Given the description of an element on the screen output the (x, y) to click on. 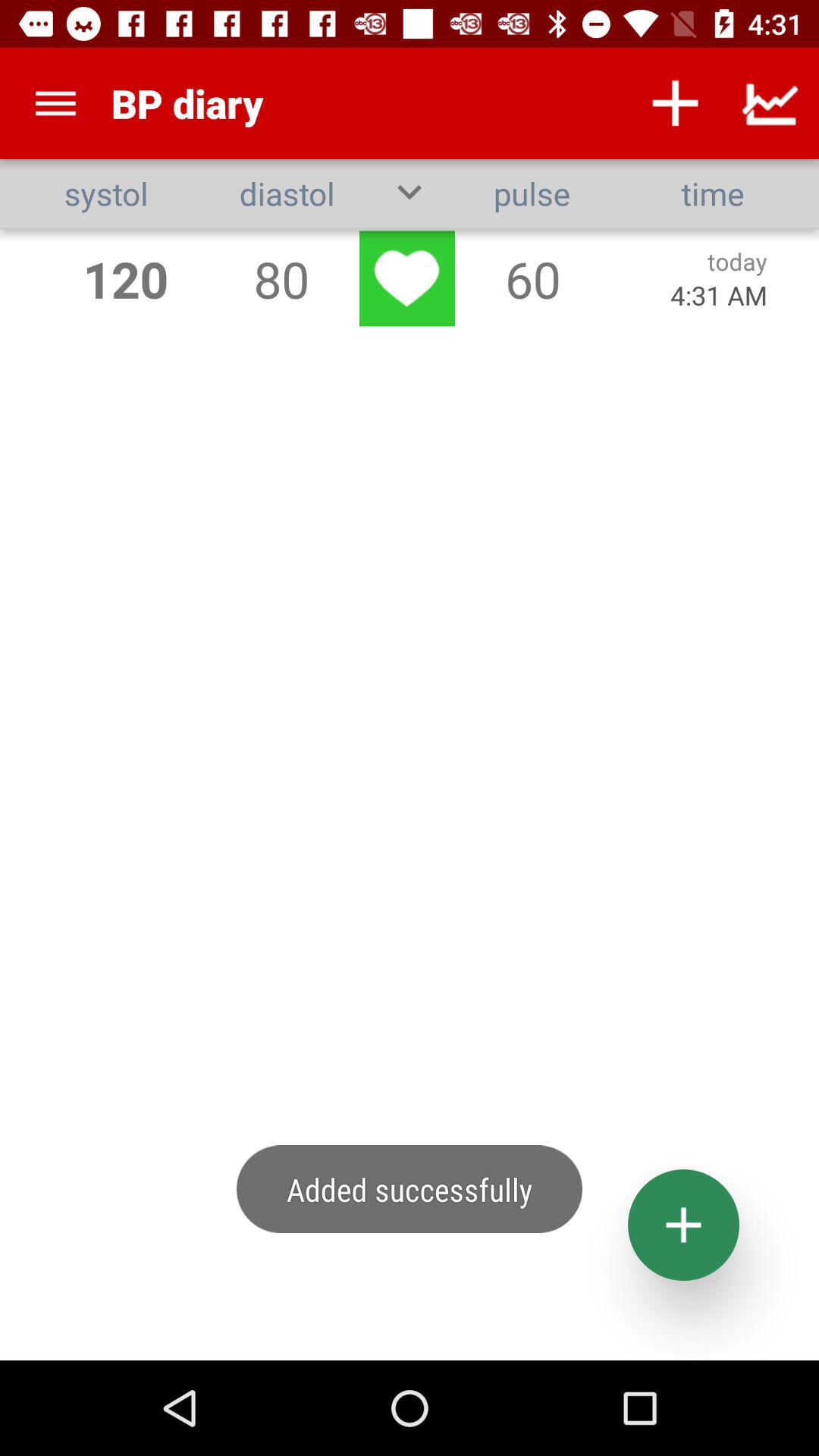
press 4:31 am (718, 294)
